Given the description of an element on the screen output the (x, y) to click on. 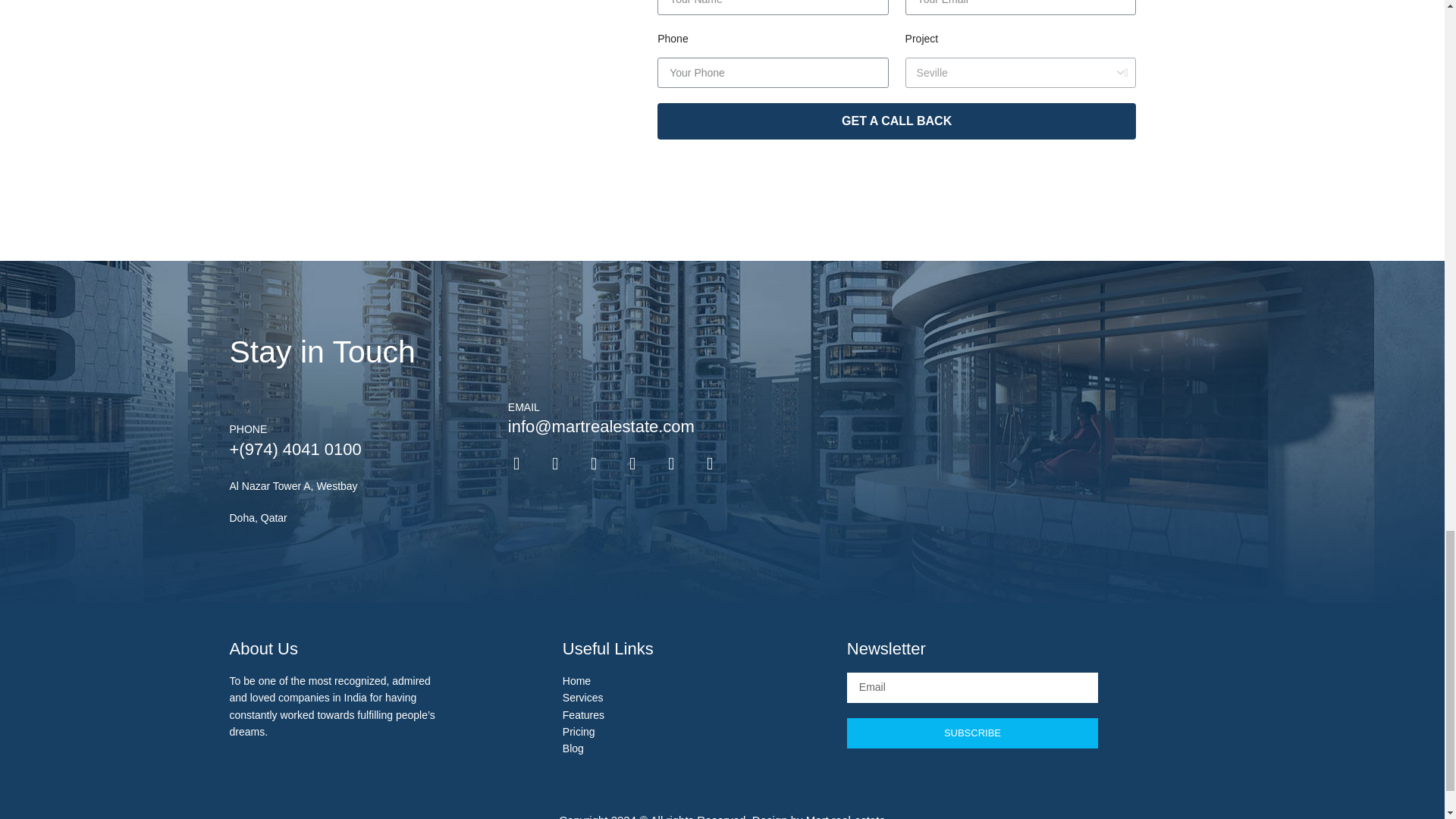
GET A CALL BACK (896, 121)
SUBSCRIBE (972, 733)
